Given the description of an element on the screen output the (x, y) to click on. 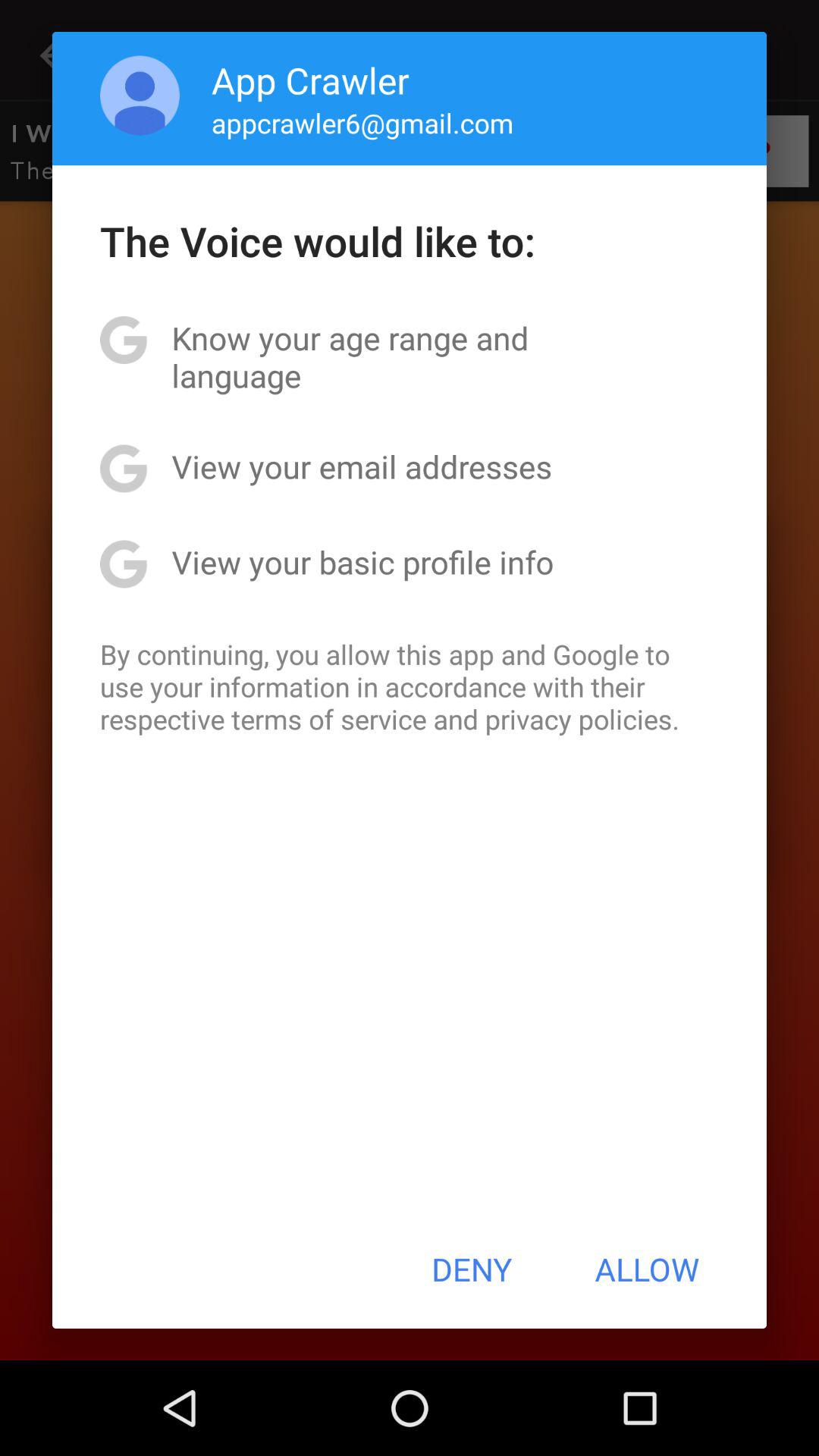
click app below the voice would item (409, 356)
